Given the description of an element on the screen output the (x, y) to click on. 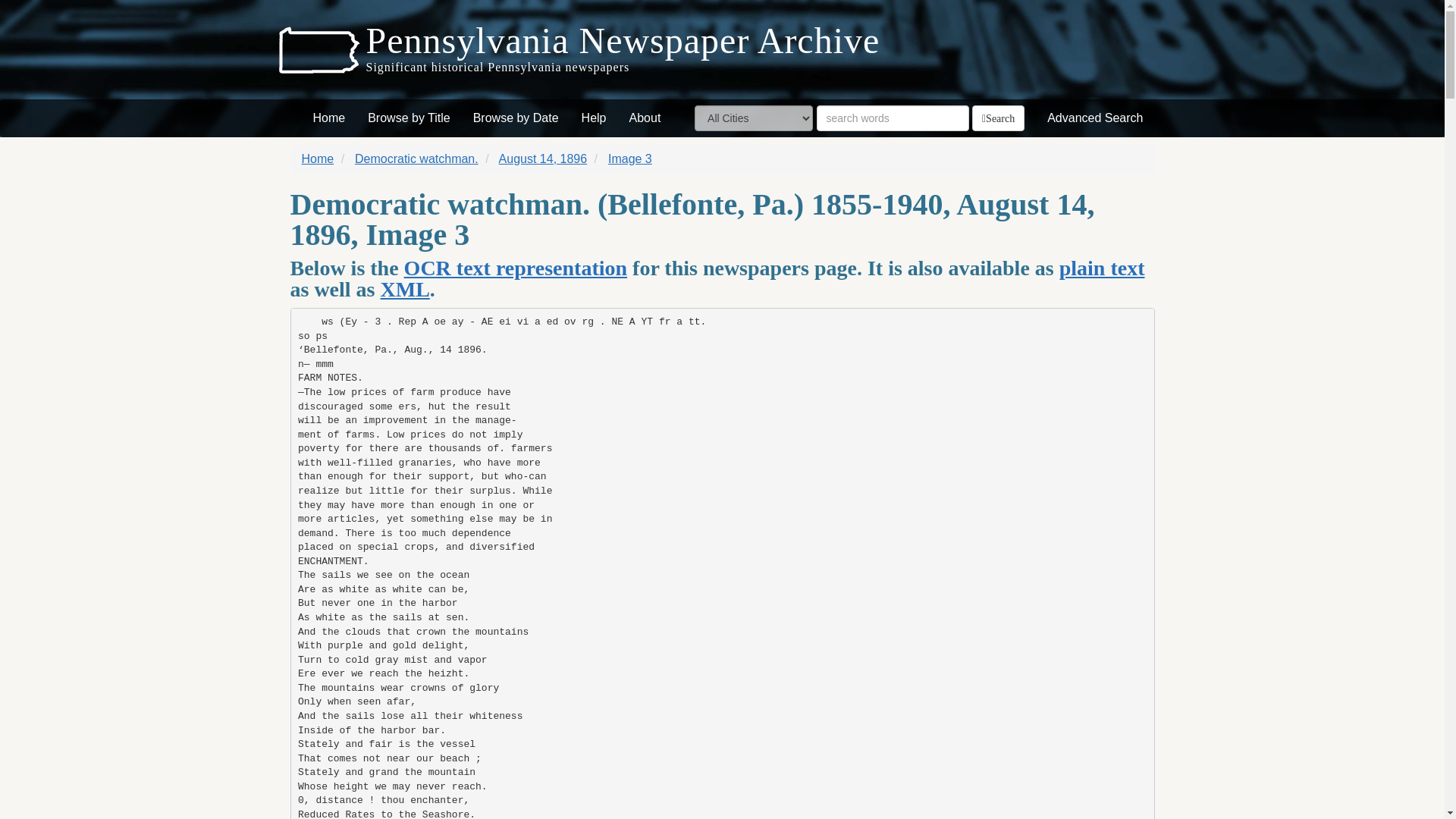
Image 3 (630, 158)
OCR text representation (515, 268)
Home (328, 118)
About (644, 118)
XML (404, 289)
Search (998, 118)
Browse by Title (408, 118)
August 14, 1896 (543, 158)
Advanced Search (1094, 118)
Browse by Date (515, 118)
Democratic watchman. (417, 158)
plain text (1101, 268)
Help (593, 118)
Home (317, 158)
